Given the description of an element on the screen output the (x, y) to click on. 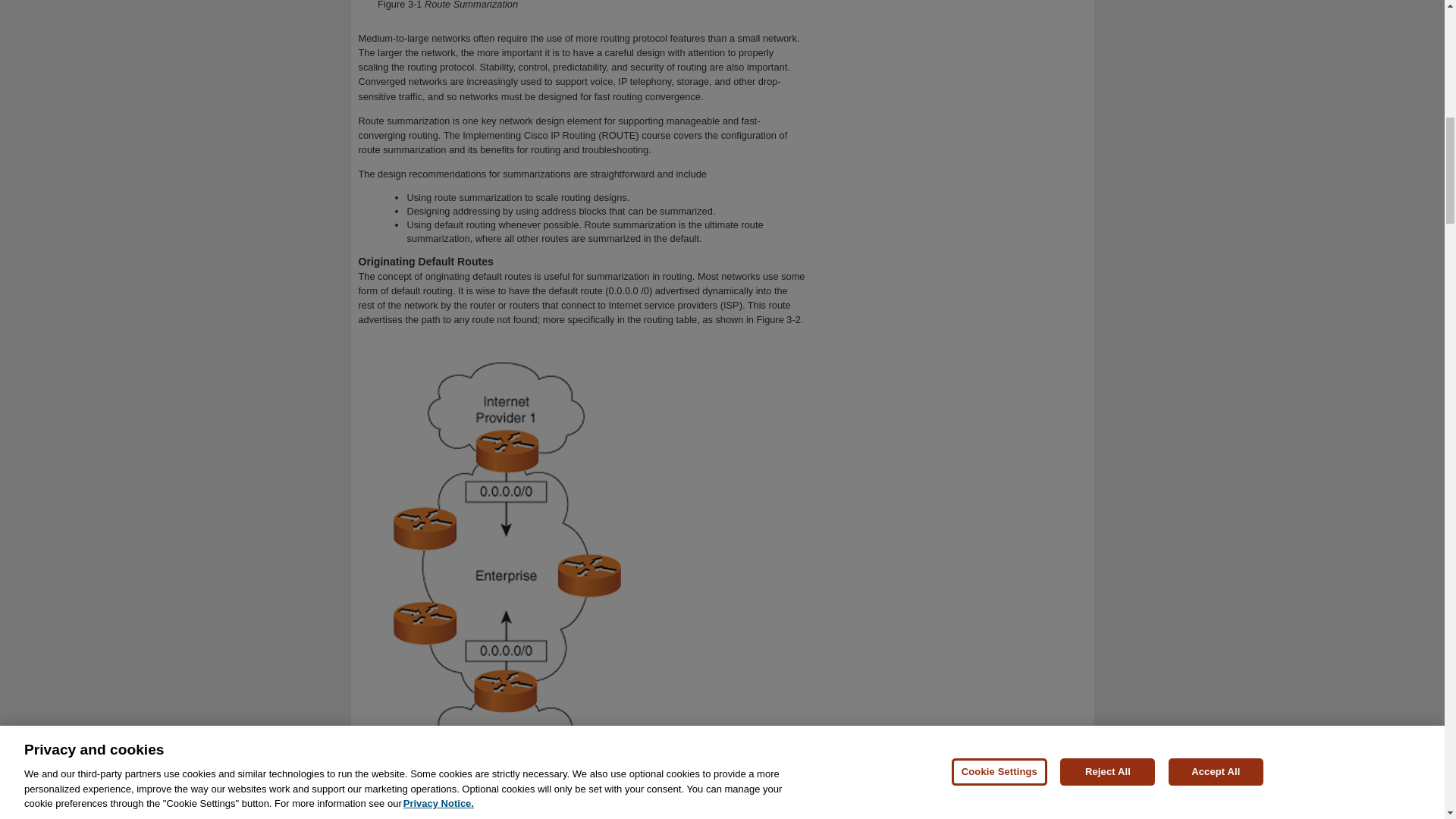
Figure 3-2 (777, 319)
Figure 3-2 (399, 814)
Figure 3-1 (399, 4)
